Given the description of an element on the screen output the (x, y) to click on. 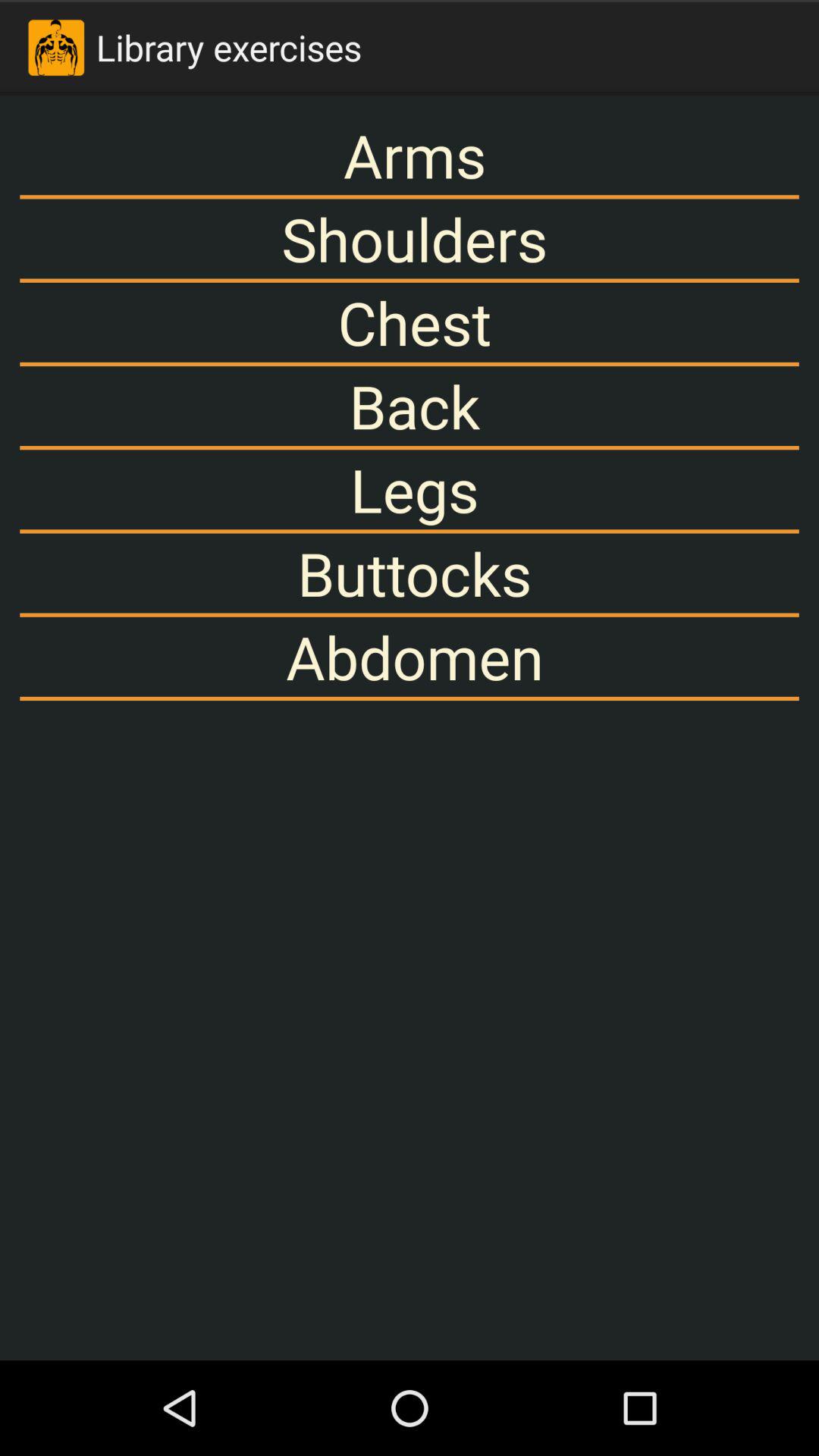
press item below the chest app (409, 405)
